Given the description of an element on the screen output the (x, y) to click on. 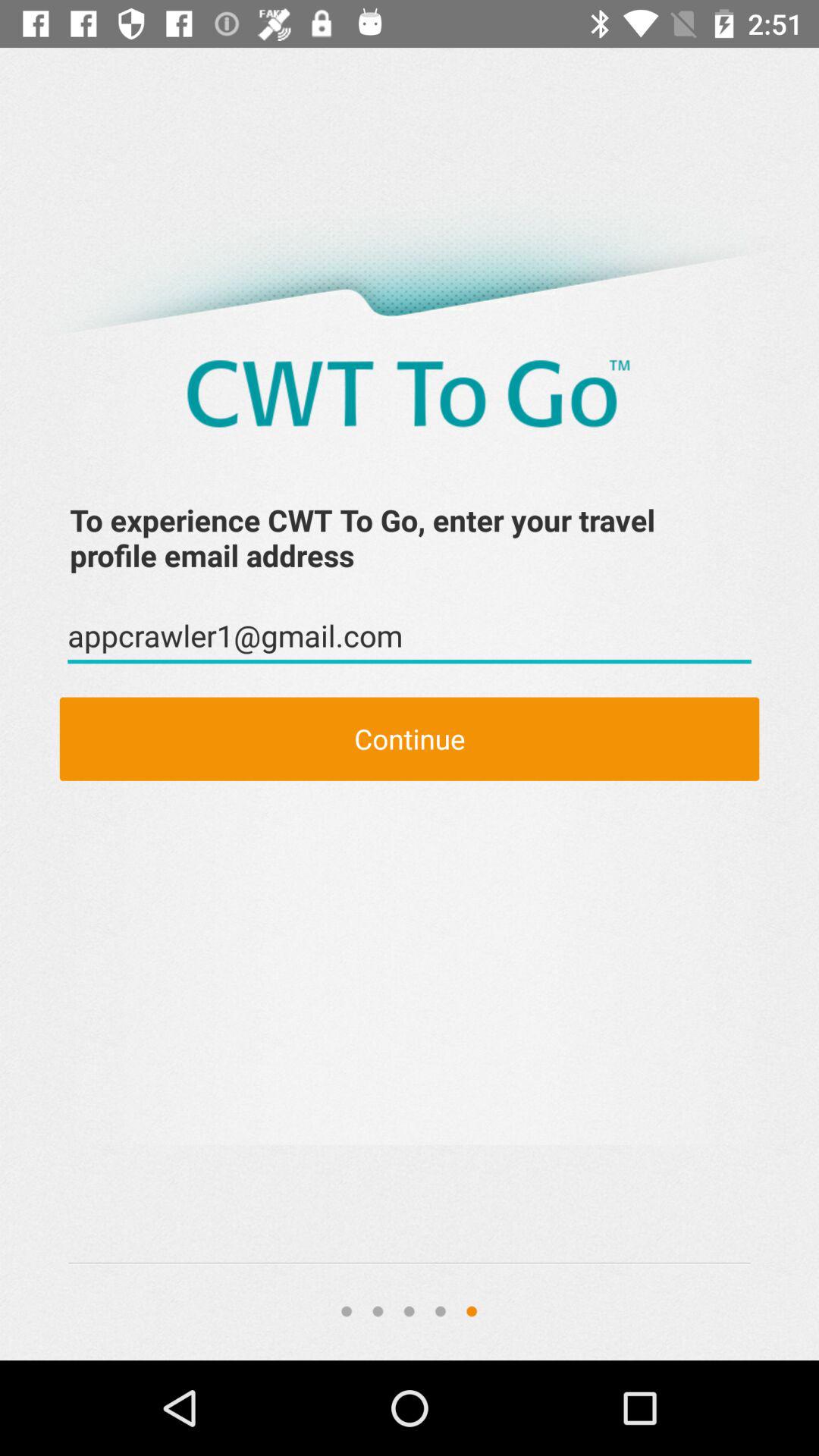
press the icon at the bottom right corner (737, 1311)
